Given the description of an element on the screen output the (x, y) to click on. 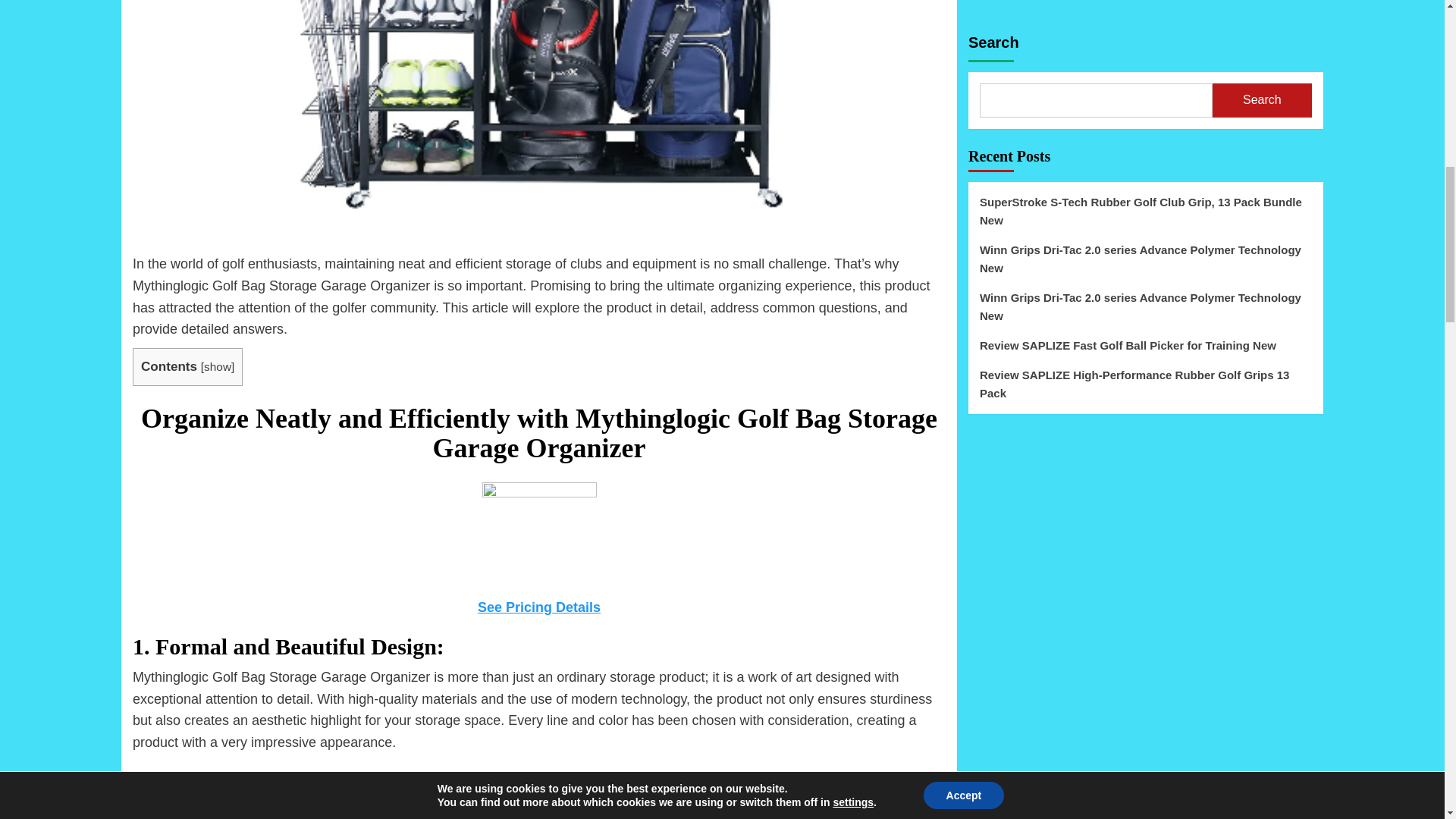
show (217, 366)
See Pricing Details (538, 607)
